Given the description of an element on the screen output the (x, y) to click on. 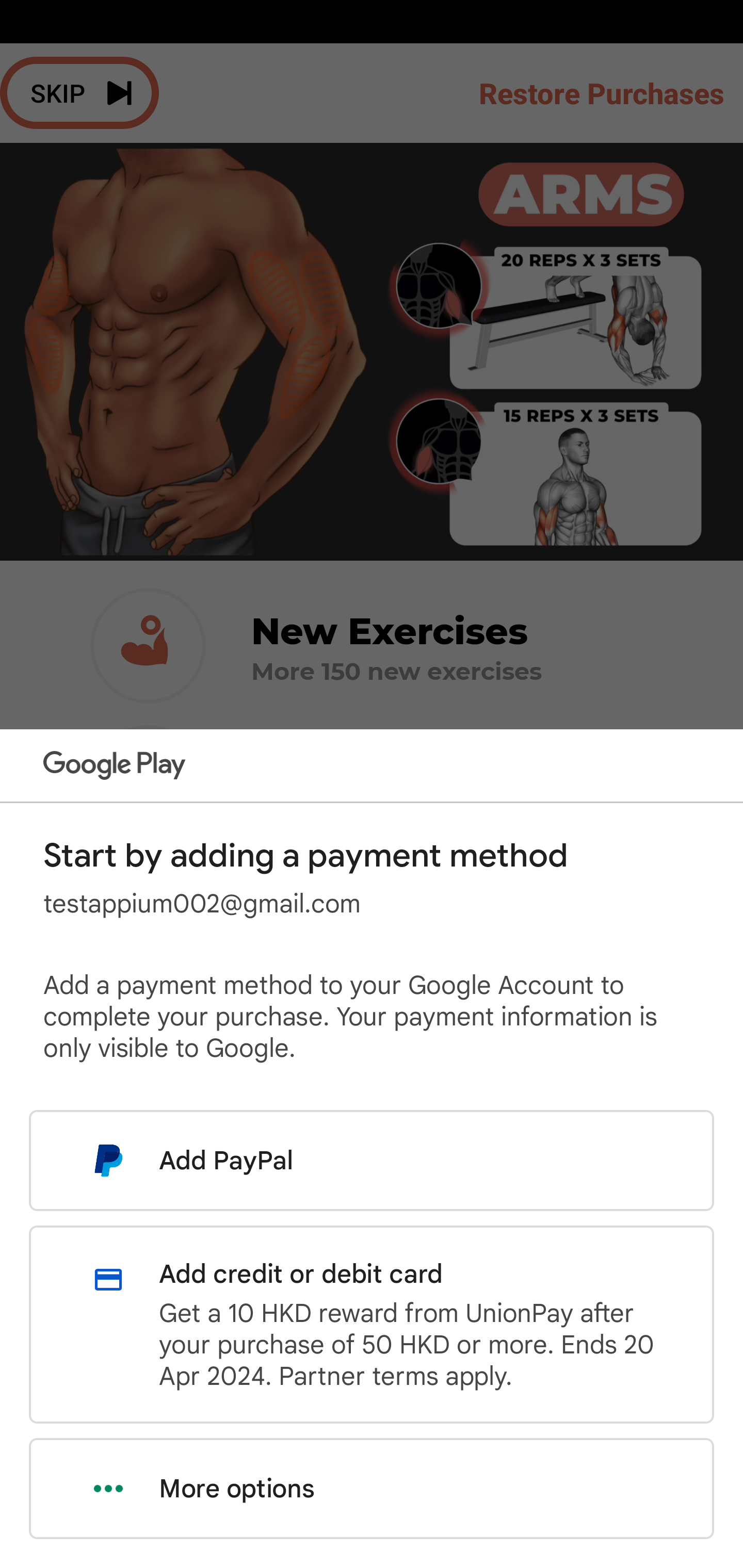
Add PayPal (371, 1160)
More options (371, 1488)
